Given the description of an element on the screen output the (x, y) to click on. 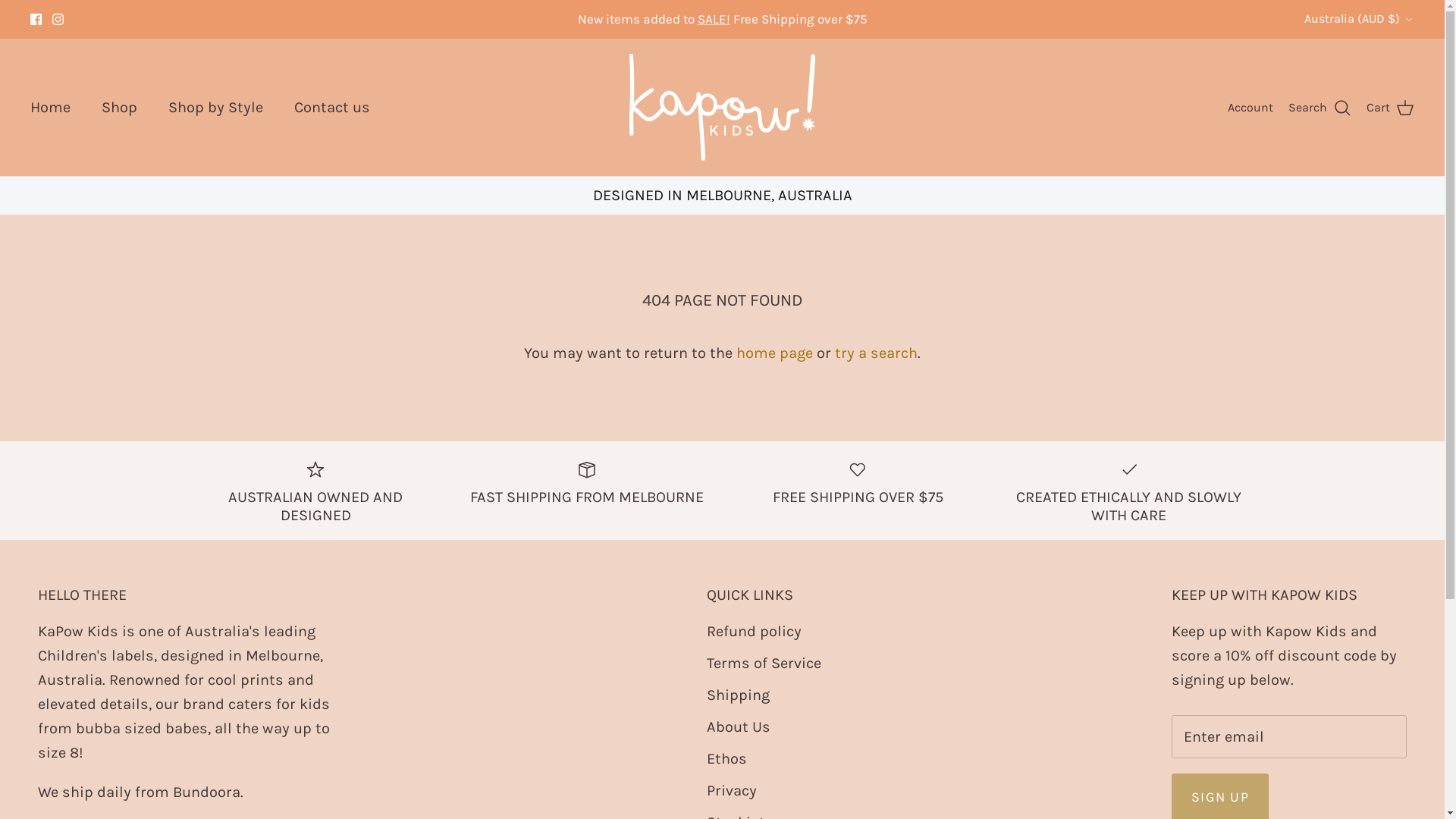
Instagram Element type: text (57, 19)
Privacy Element type: text (731, 790)
AUSTRALIAN OWNED AND DESIGNED Element type: text (315, 490)
Refund policy Element type: text (753, 631)
Cart Element type: text (1390, 107)
try a search Element type: text (875, 352)
home page Element type: text (774, 352)
SALE! Element type: text (713, 18)
Search Element type: text (1319, 107)
About Us Element type: text (738, 726)
Australia (AUD $)
Down Element type: text (1359, 18)
Ethos Element type: text (726, 758)
Account Element type: text (1250, 107)
FAST SHIPPING FROM MELBOURNE Element type: text (586, 481)
Shop Element type: text (118, 107)
Facebook Element type: text (35, 19)
Contact us Element type: text (331, 107)
KaPow Kids Clothing Element type: hover (722, 107)
FREE SHIPPING OVER $75 Element type: text (858, 481)
Home Element type: text (50, 107)
Shipping Element type: text (737, 694)
Terms of Service Element type: text (763, 662)
Shop by Style Element type: text (215, 107)
